Given the description of an element on the screen output the (x, y) to click on. 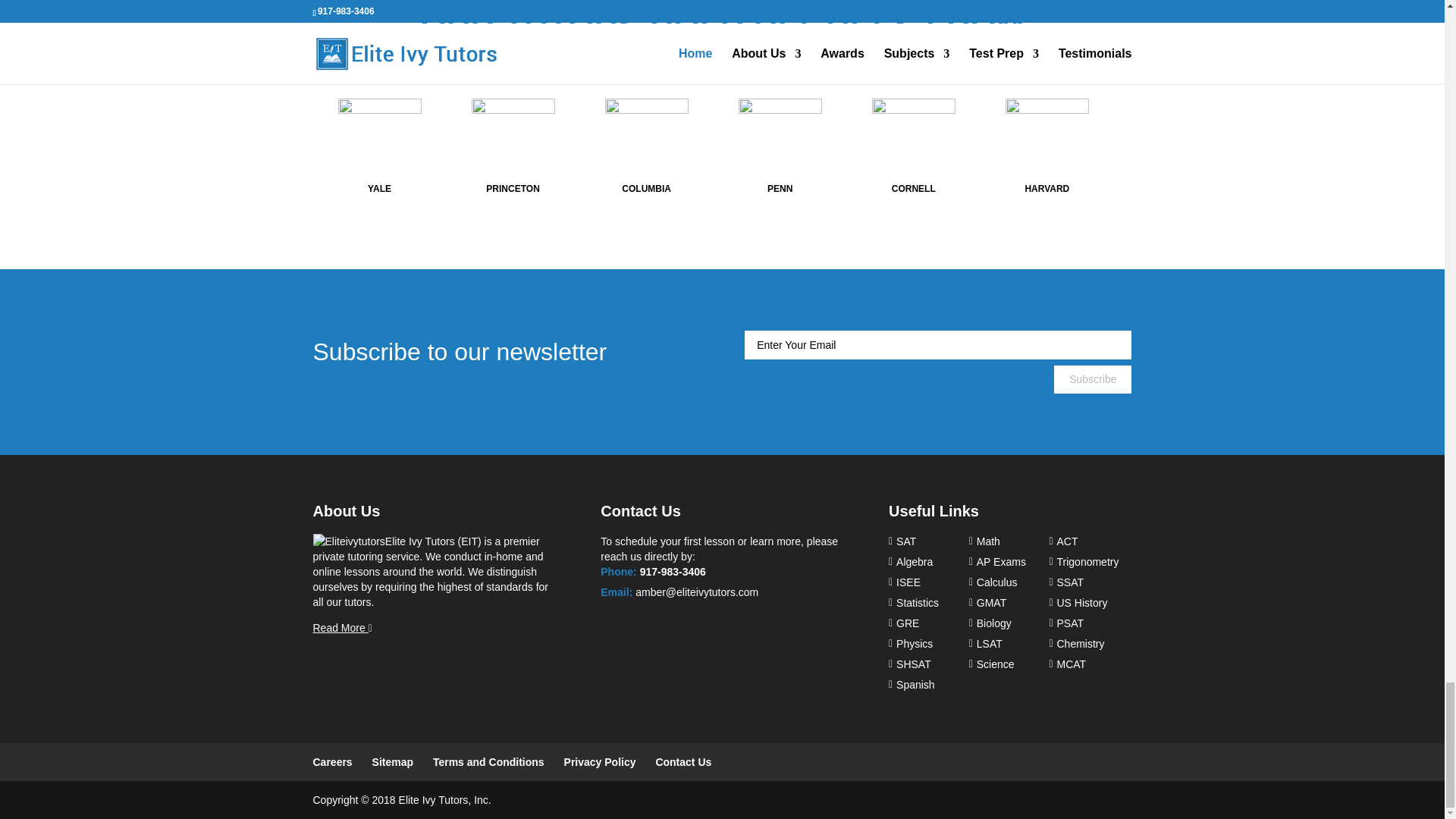
Subscribe (1092, 379)
Eliteivytutors (348, 540)
